Given the description of an element on the screen output the (x, y) to click on. 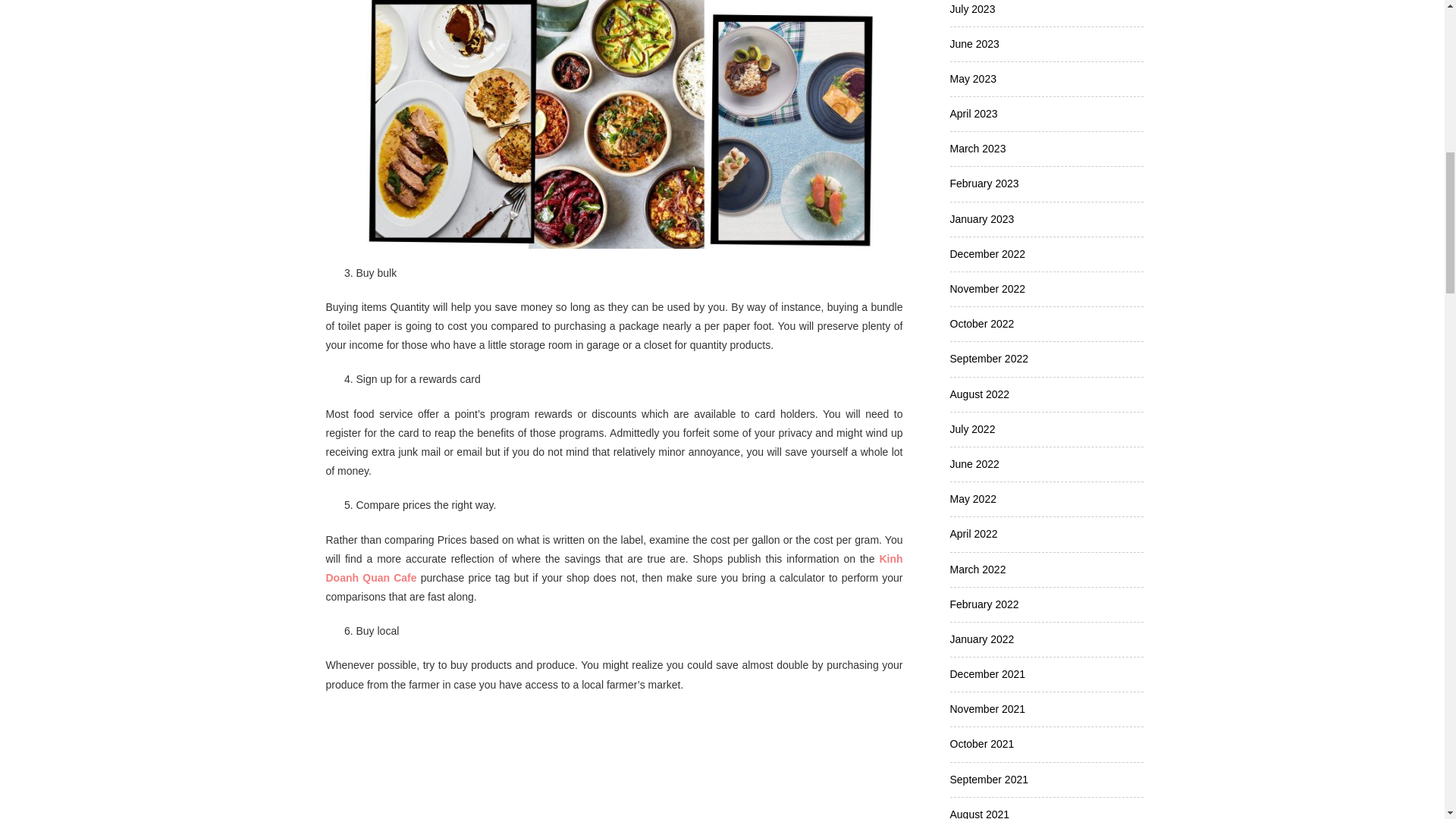
November 2022 (987, 288)
June 2022 (973, 463)
July 2023 (971, 9)
Kinh Doanh Quan Cafe (614, 567)
May 2023 (972, 78)
July 2022 (971, 428)
April 2023 (973, 113)
June 2023 (973, 43)
December 2022 (987, 254)
August 2022 (979, 394)
March 2023 (977, 148)
January 2023 (981, 218)
September 2022 (988, 358)
February 2023 (983, 183)
October 2022 (981, 323)
